Given the description of an element on the screen output the (x, y) to click on. 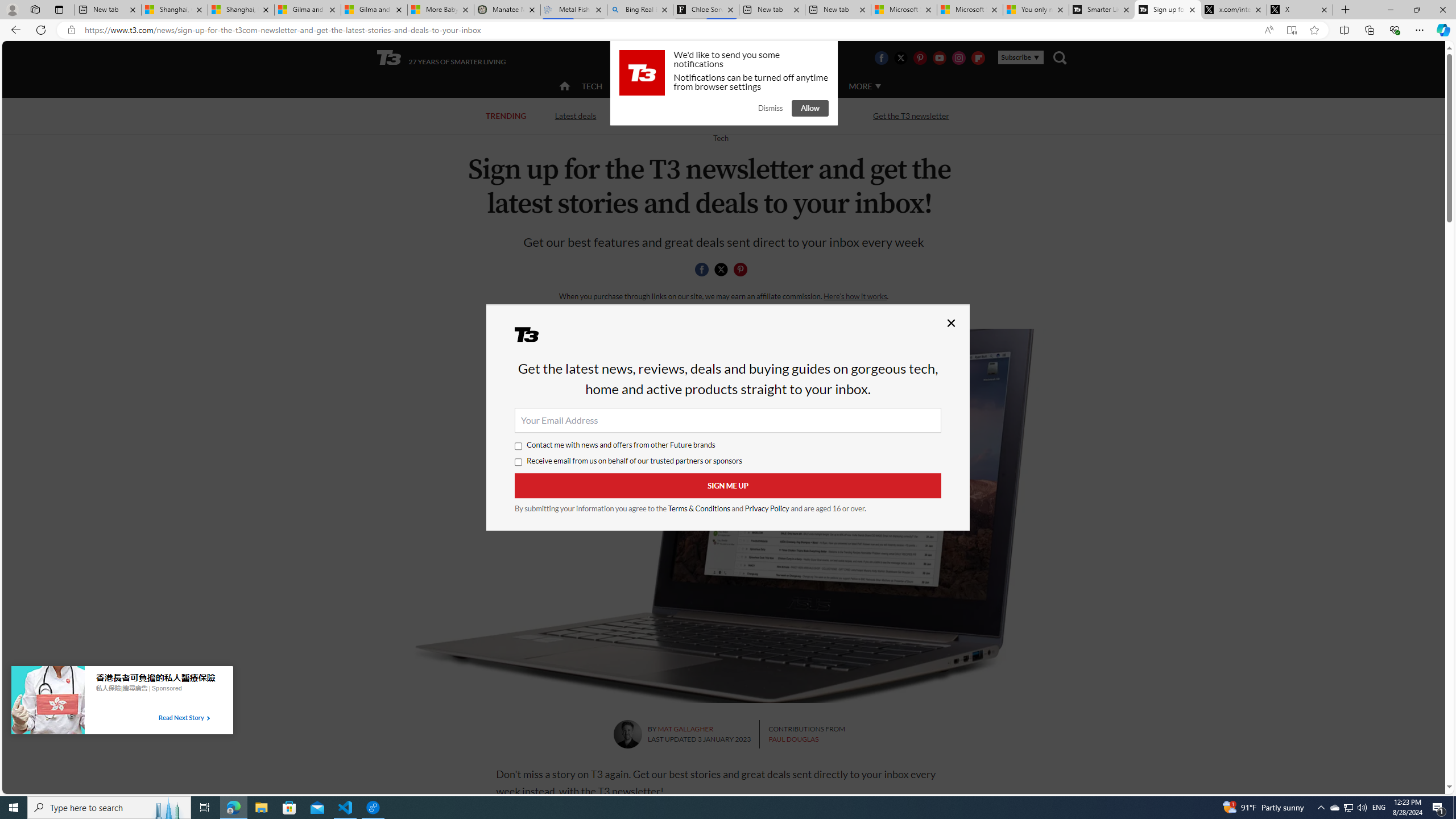
Class: tbl-arrow-icon arrow-2 (208, 717)
LUXURY (765, 85)
Dismiss (770, 107)
Bing Real Estate - Home sales and rental listings (640, 9)
T3 (534, 338)
AUTO (815, 85)
Class: navigation__item (563, 86)
Image for Taboola Advertising Unit (47, 702)
Back to Class 2024 (670, 115)
